Given the description of an element on the screen output the (x, y) to click on. 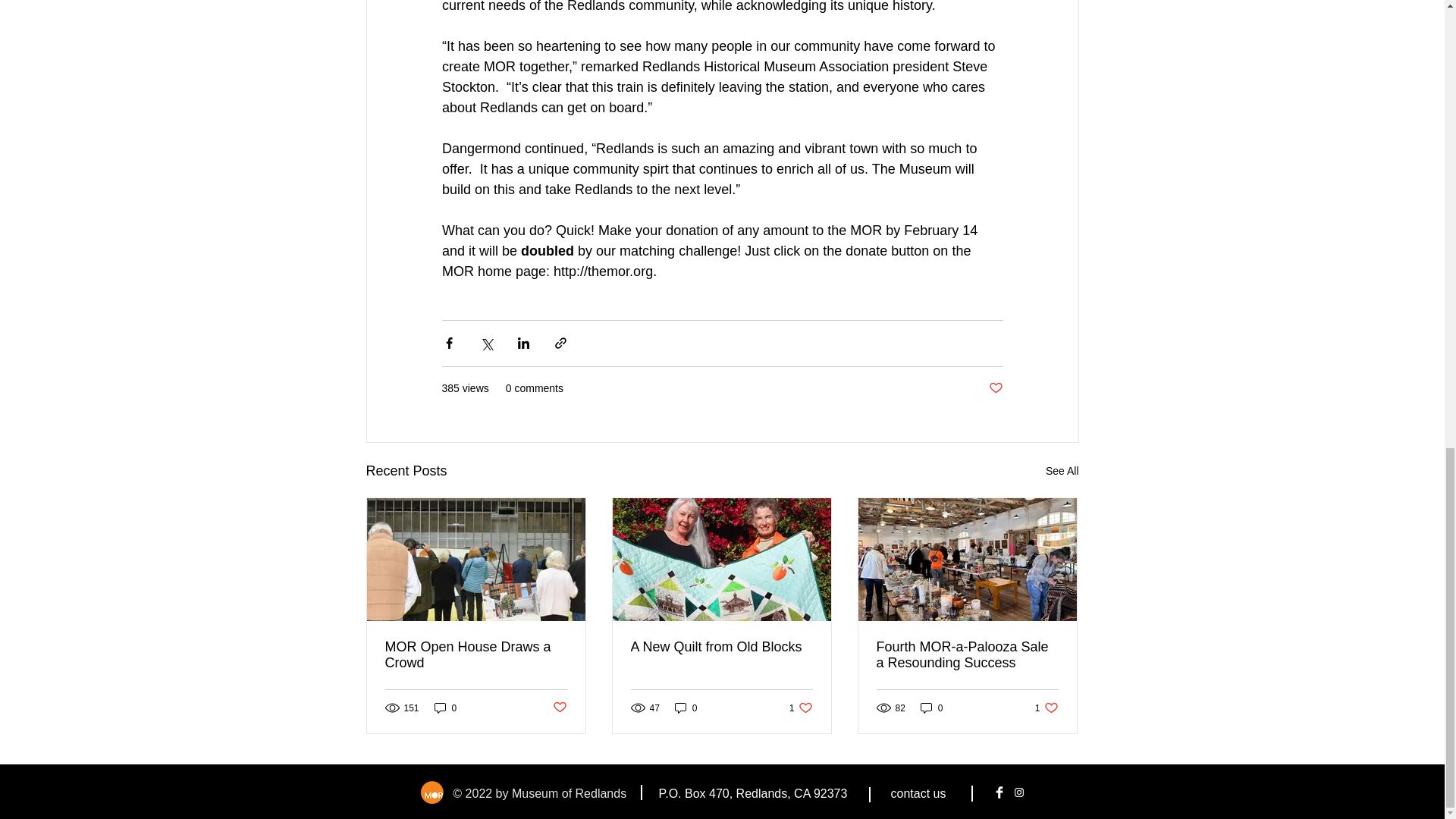
0 (1046, 707)
See All (800, 707)
Post not marked as liked (931, 707)
Post not marked as liked (1061, 471)
MOR Open House Draws a Crowd (558, 707)
0 (995, 388)
A New Quilt from Old Blocks (476, 654)
Fourth MOR-a-Palooza Sale a Resounding Success (685, 707)
0 (721, 647)
